Given the description of an element on the screen output the (x, y) to click on. 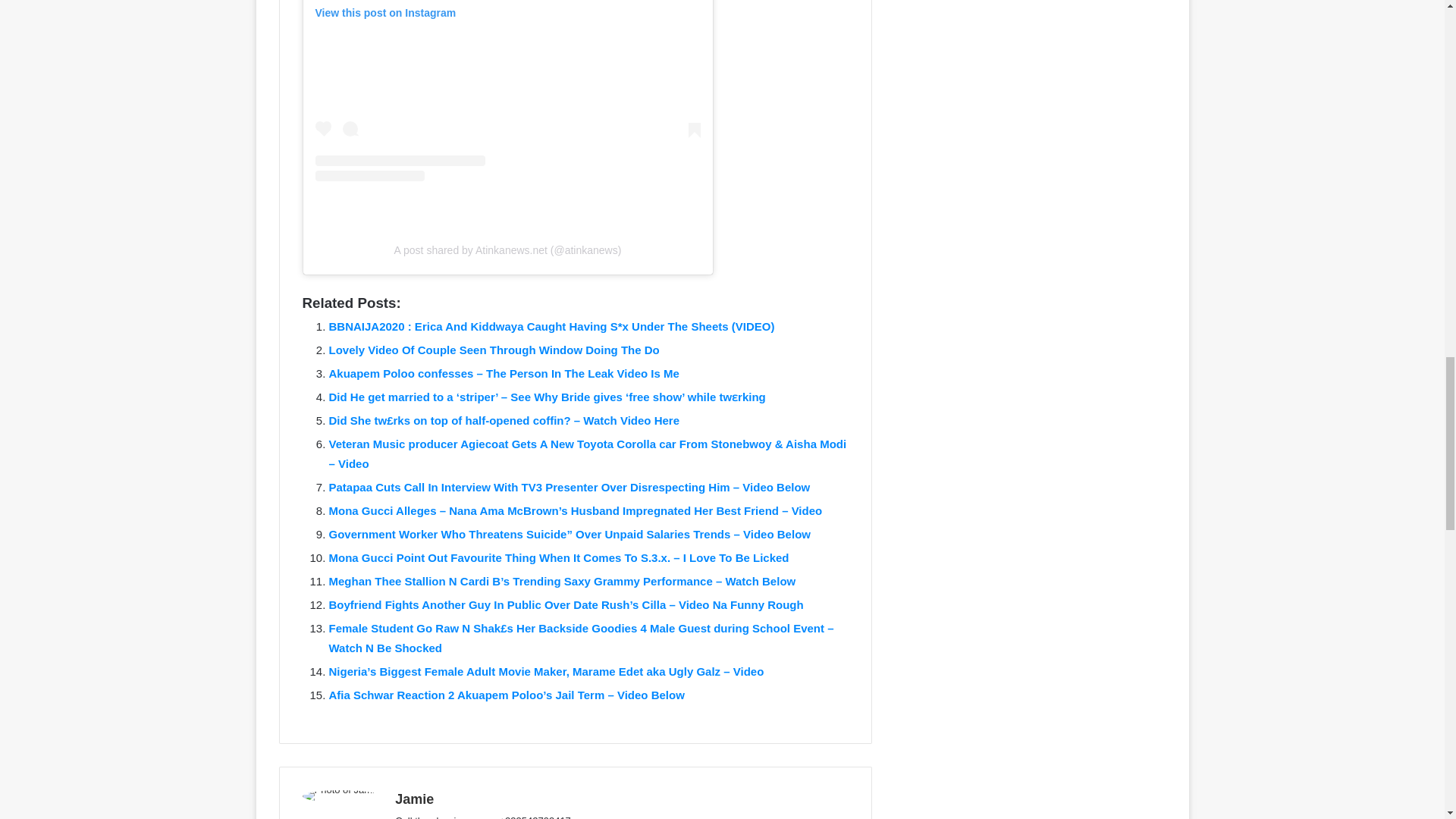
Lovely Video Of Couple Seen Through Window Doing The Do (494, 349)
Lovely Video Of Couple Seen Through Window Doing The Do (494, 349)
